Given the description of an element on the screen output the (x, y) to click on. 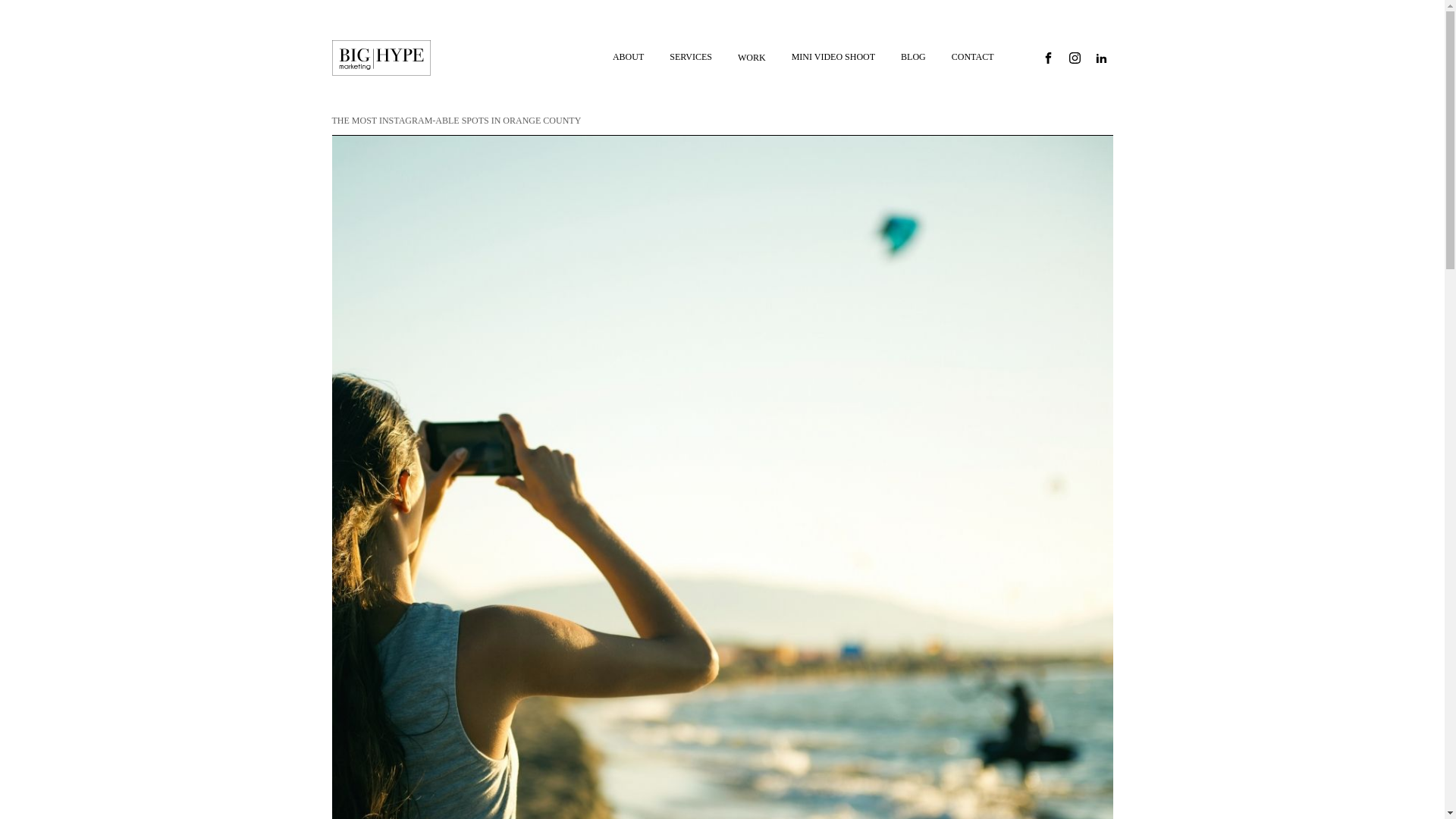
MINI VIDEO SHOOT (833, 56)
BLOG (913, 56)
WORK (751, 57)
ABOUT (627, 56)
CONTACT (973, 56)
SERVICES (690, 56)
